Given the description of an element on the screen output the (x, y) to click on. 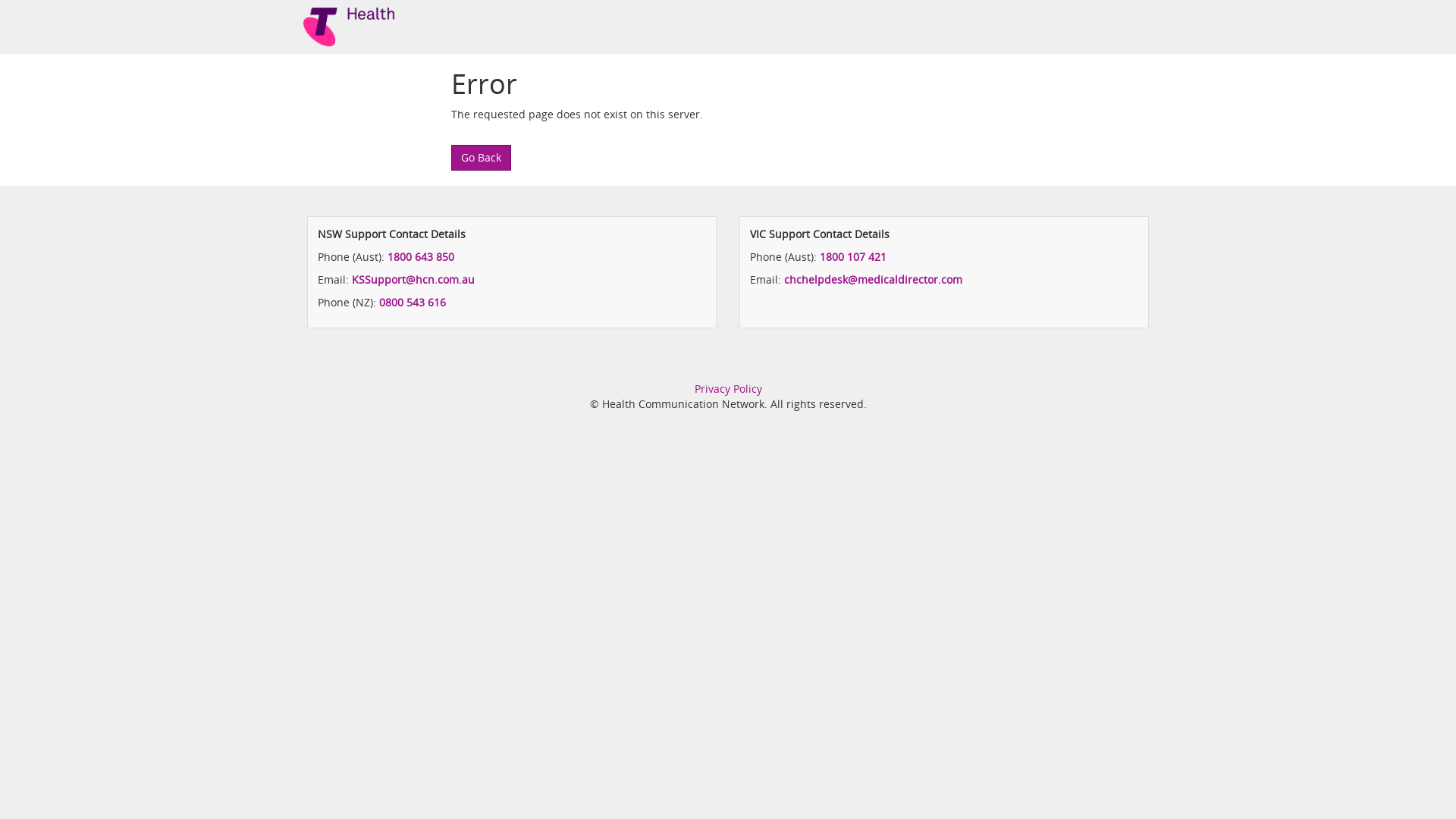
1800 107 421 Element type: text (852, 256)
0800 543 616 Element type: text (412, 301)
Go Back Element type: text (481, 157)
Privacy Policy Element type: text (728, 388)
1800 643 850 Element type: text (420, 256)
chchelpdesk@medicaldirector.com Element type: text (873, 279)
KSSupport@hcn.com.au Element type: text (412, 279)
